Given the description of an element on the screen output the (x, y) to click on. 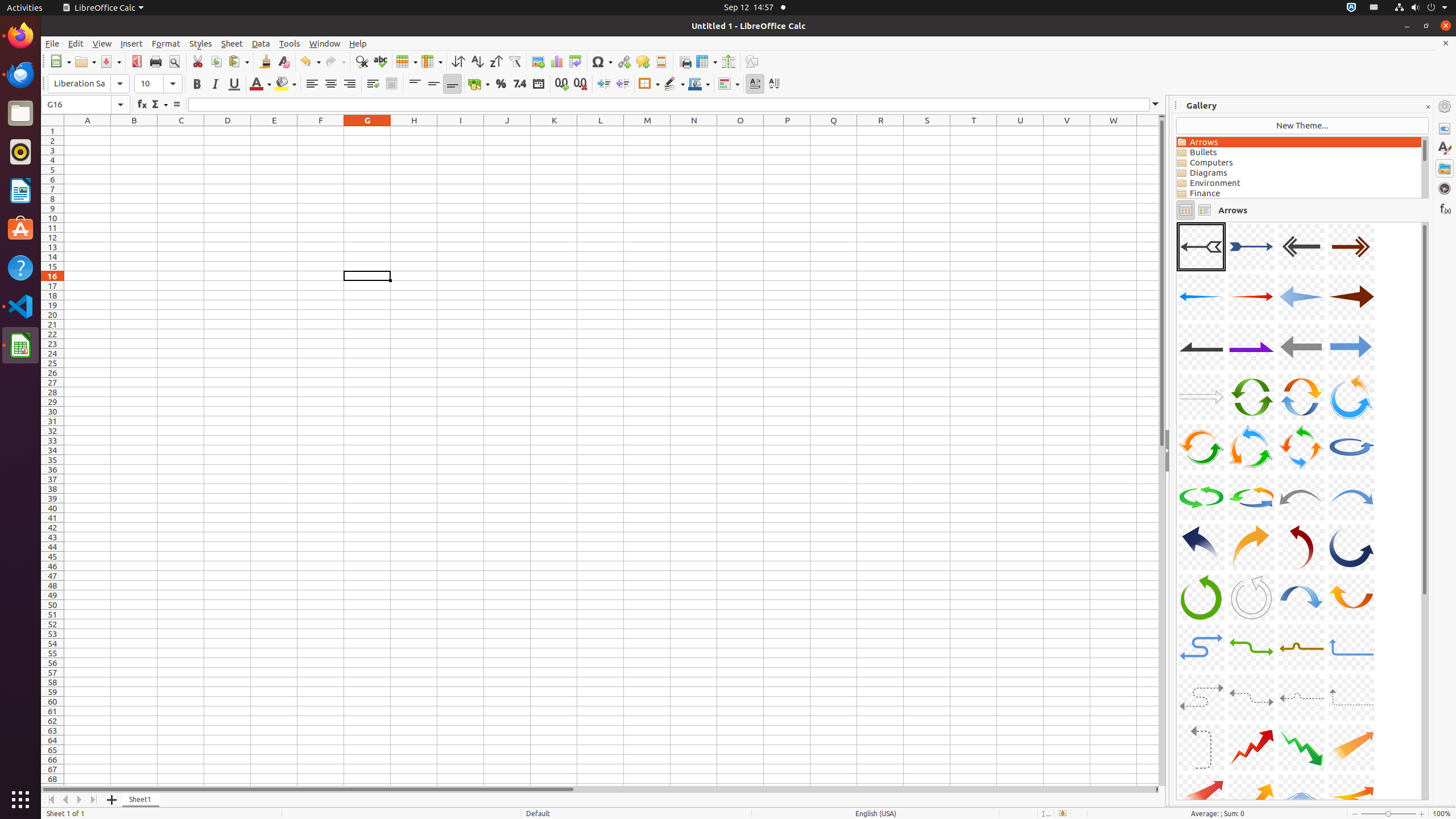
Environment Element type: list-item (1298, 183)
A21-CircleArrow-Green Element type: list-item (1200, 496)
Ubuntu Software Element type: push-button (20, 229)
Files Element type: push-button (20, 113)
A01-Arrow-Gray-Left Element type: list-item (1200, 246)
